Given the description of an element on the screen output the (x, y) to click on. 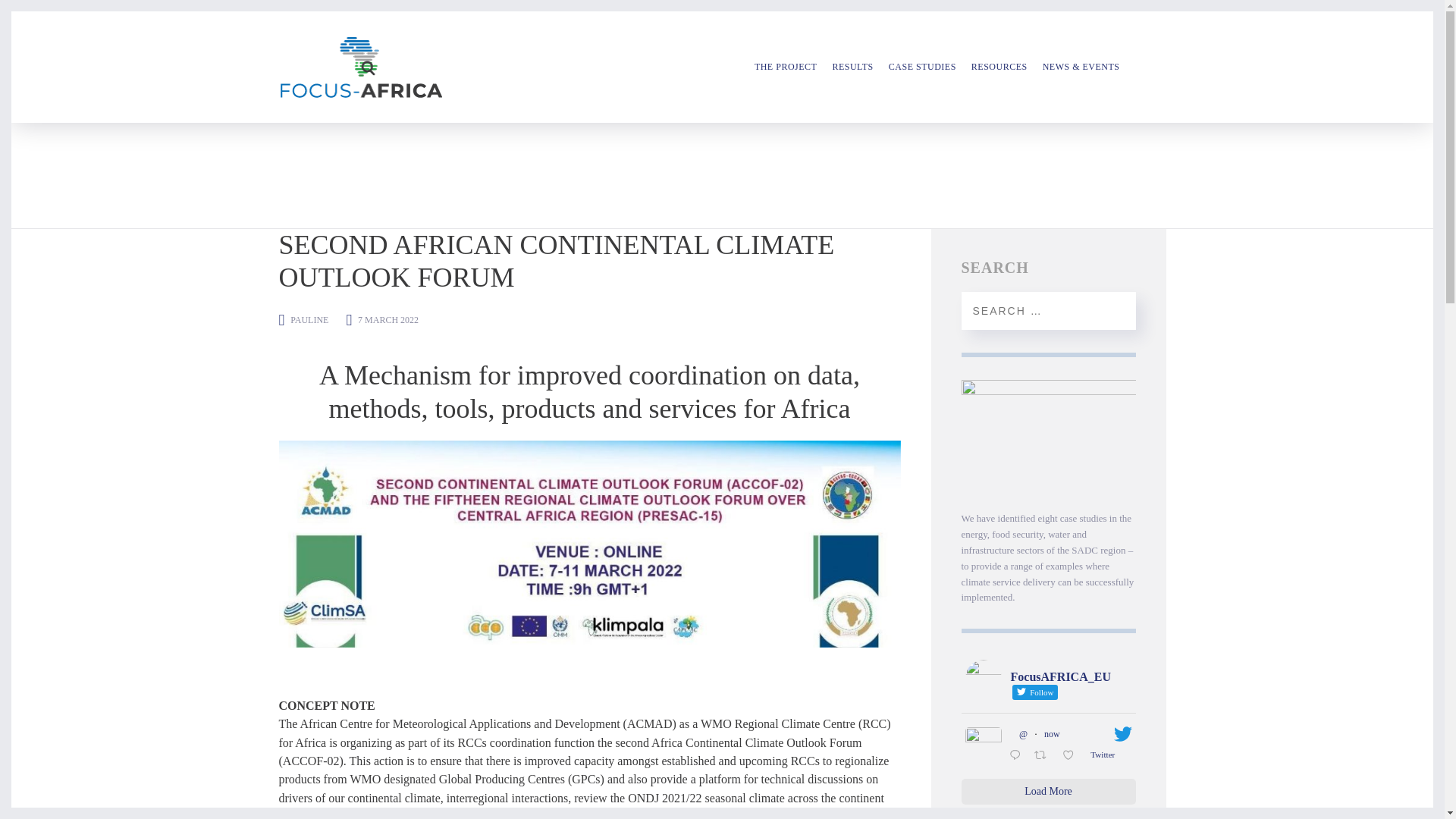
Search (1114, 310)
Posts by Pauline (309, 319)
THE PROJECT (785, 66)
Search (1114, 310)
RESOURCES (999, 66)
CASE STUDIES (922, 66)
